Given the description of an element on the screen output the (x, y) to click on. 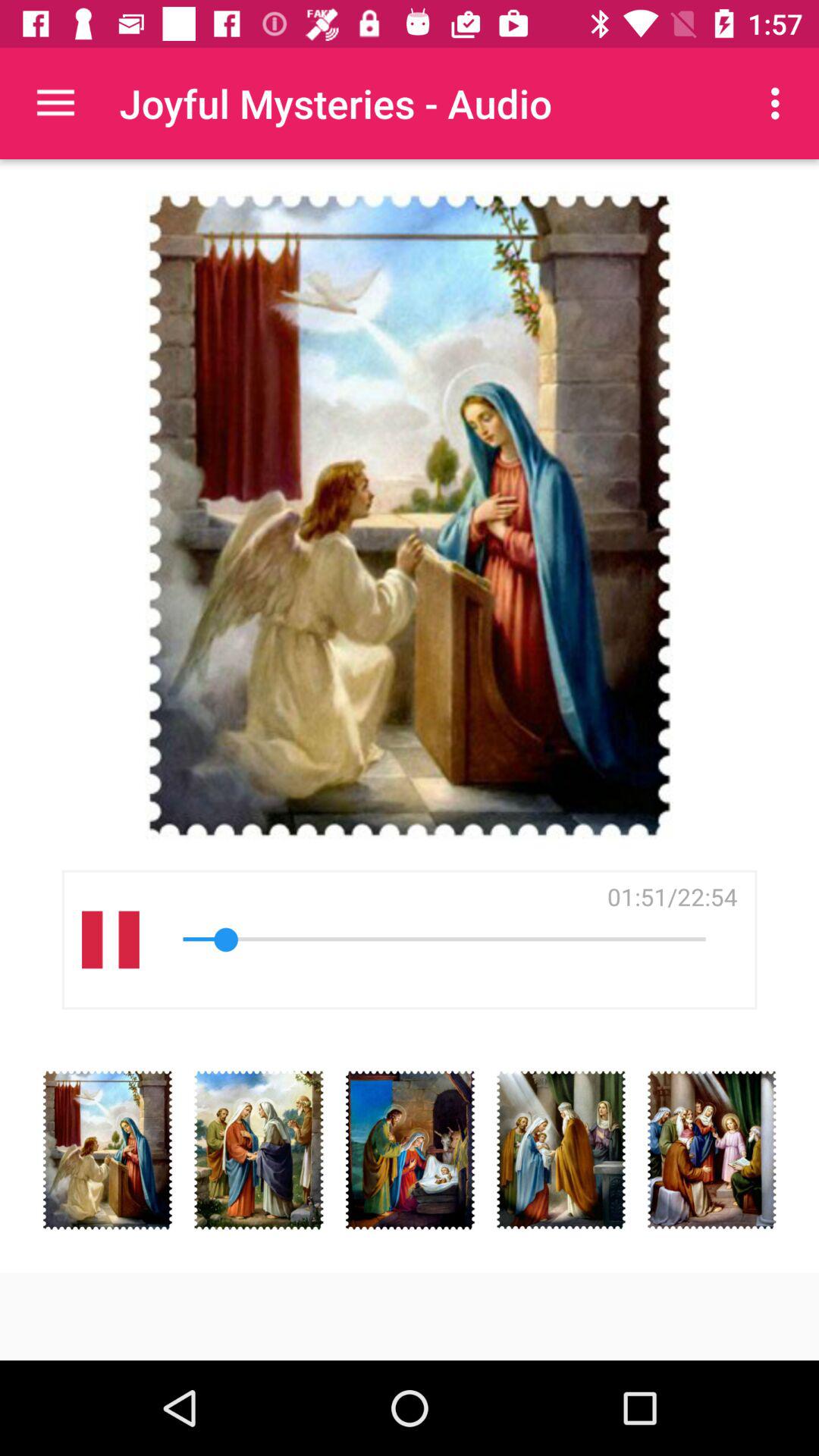
turn on icon next to the joyful mysteries - audio item (779, 103)
